Given the description of an element on the screen output the (x, y) to click on. 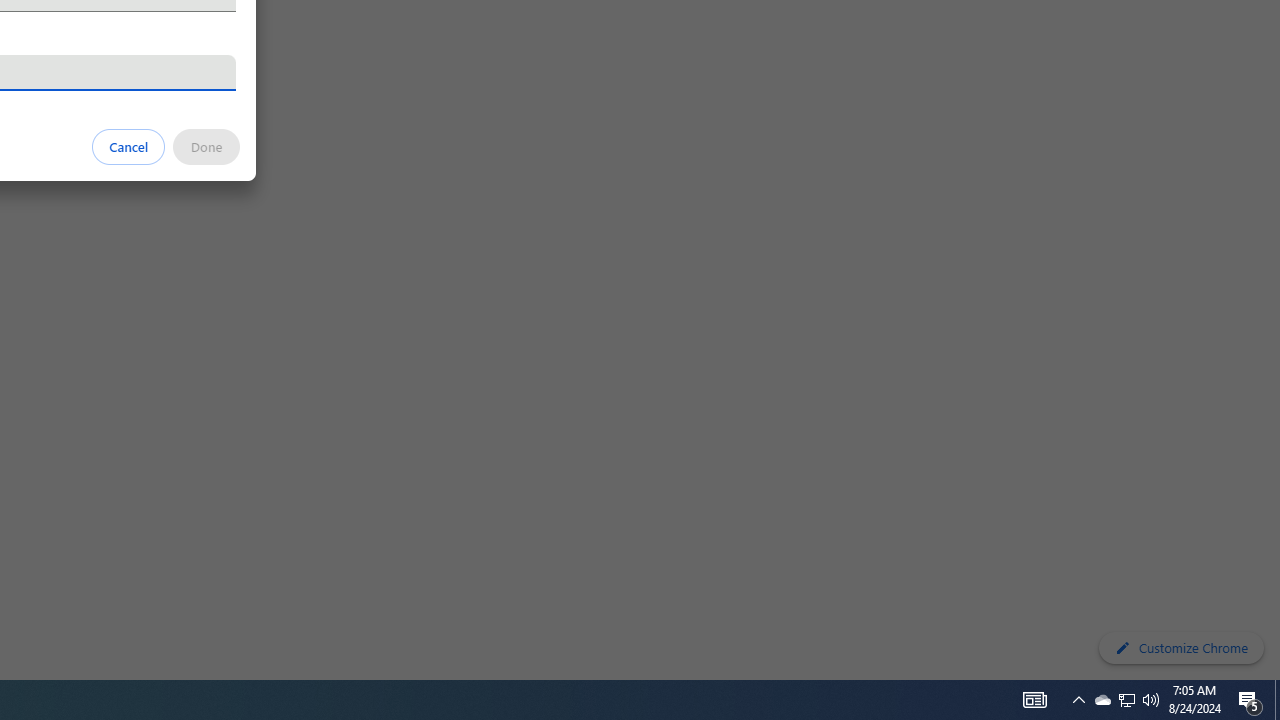
Cancel (129, 146)
Done (206, 146)
